Given the description of an element on the screen output the (x, y) to click on. 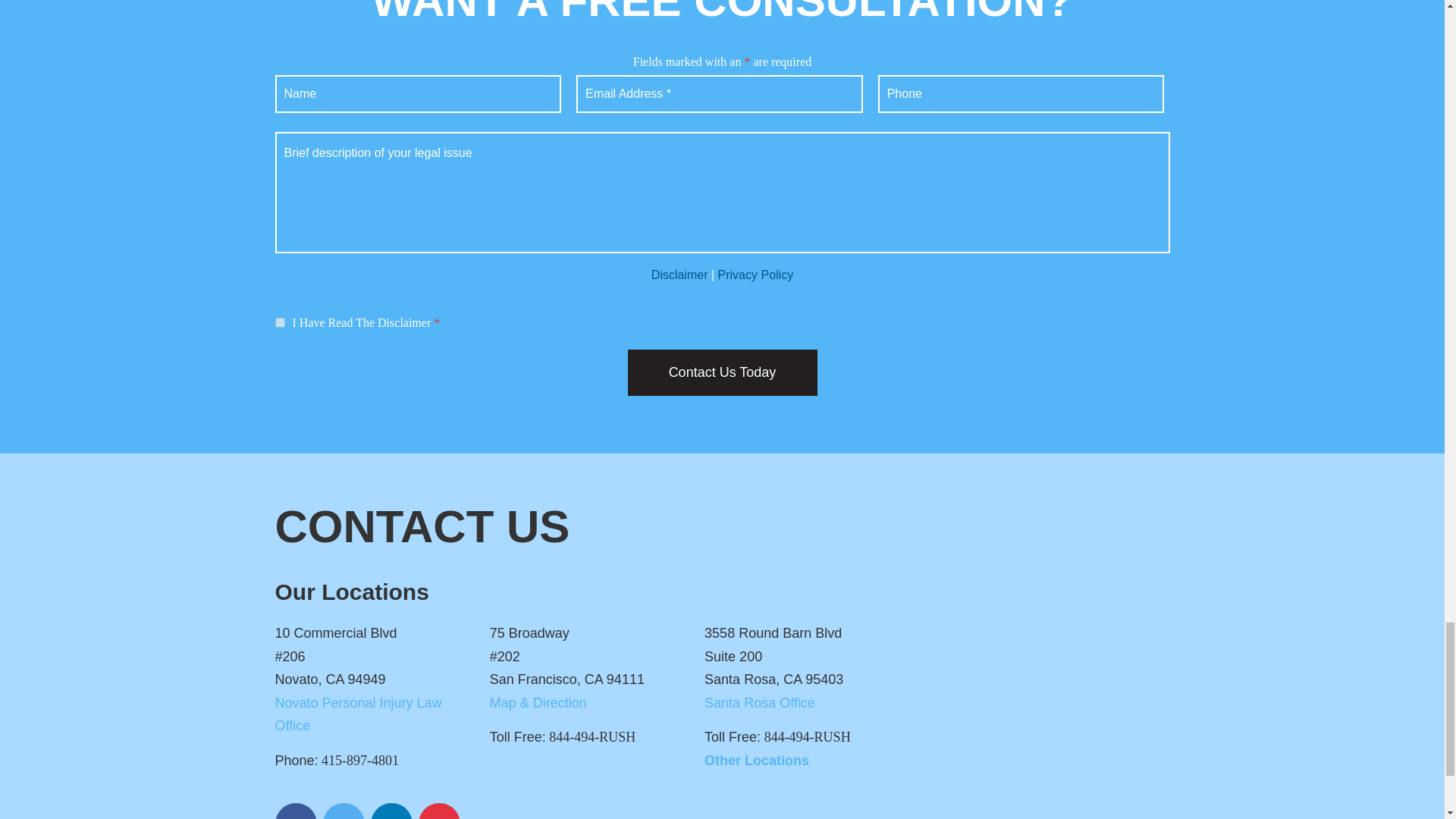
Follow on Facebook (295, 811)
Contact Us Today (721, 372)
Follow on LinkedIn (390, 811)
Follow on Twitter (344, 811)
